Given the description of an element on the screen output the (x, y) to click on. 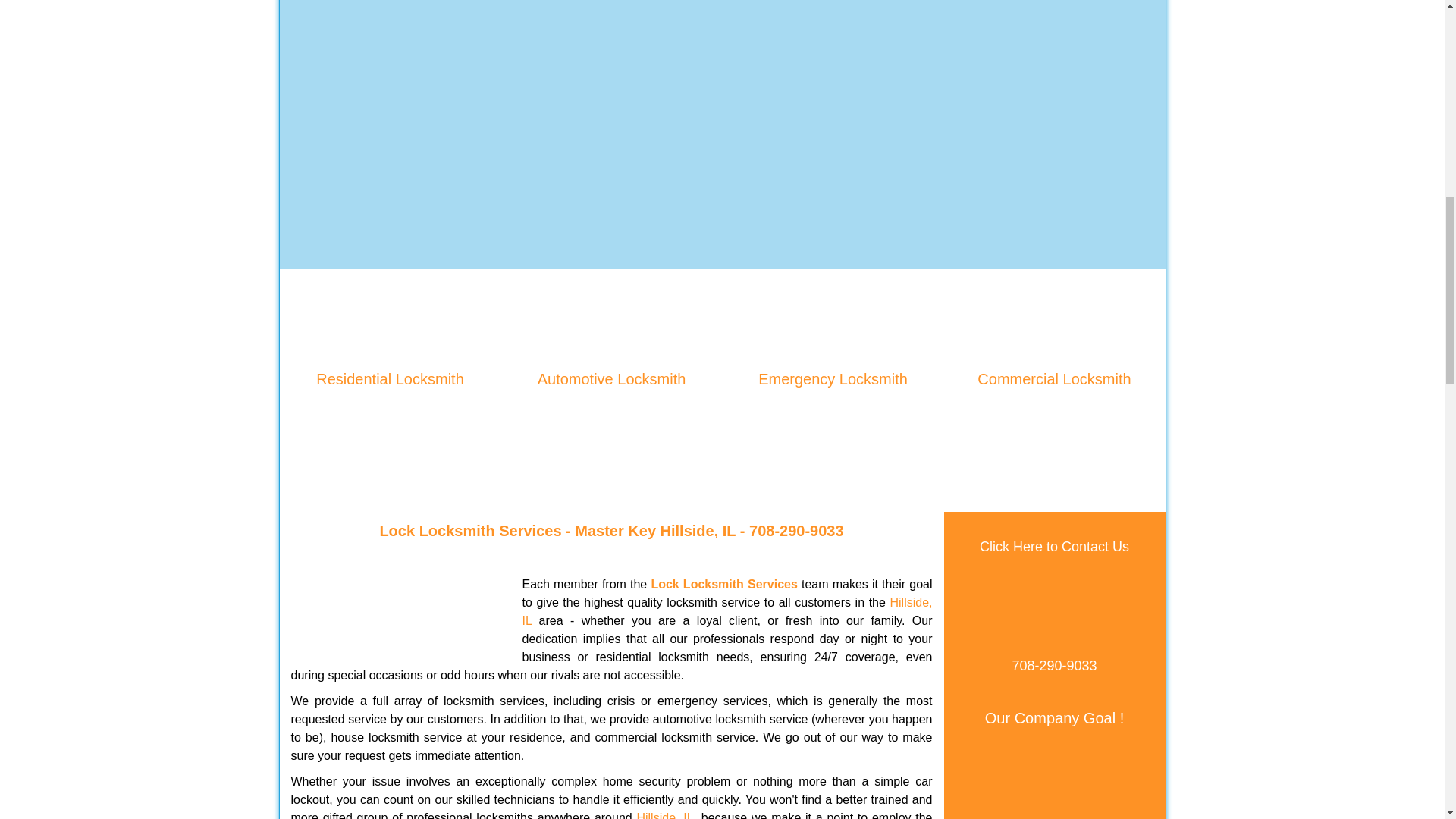
Automotive Locksmith (611, 379)
708-290-9033 (796, 530)
Commercial Locksmith (1053, 379)
Hillside, IL (664, 815)
Click Here to Contact Us (1054, 546)
Hillside, IL (726, 611)
Residential Locksmith (389, 379)
Read More (390, 404)
Hillside, IL (698, 530)
Read More (611, 404)
